Given the description of an element on the screen output the (x, y) to click on. 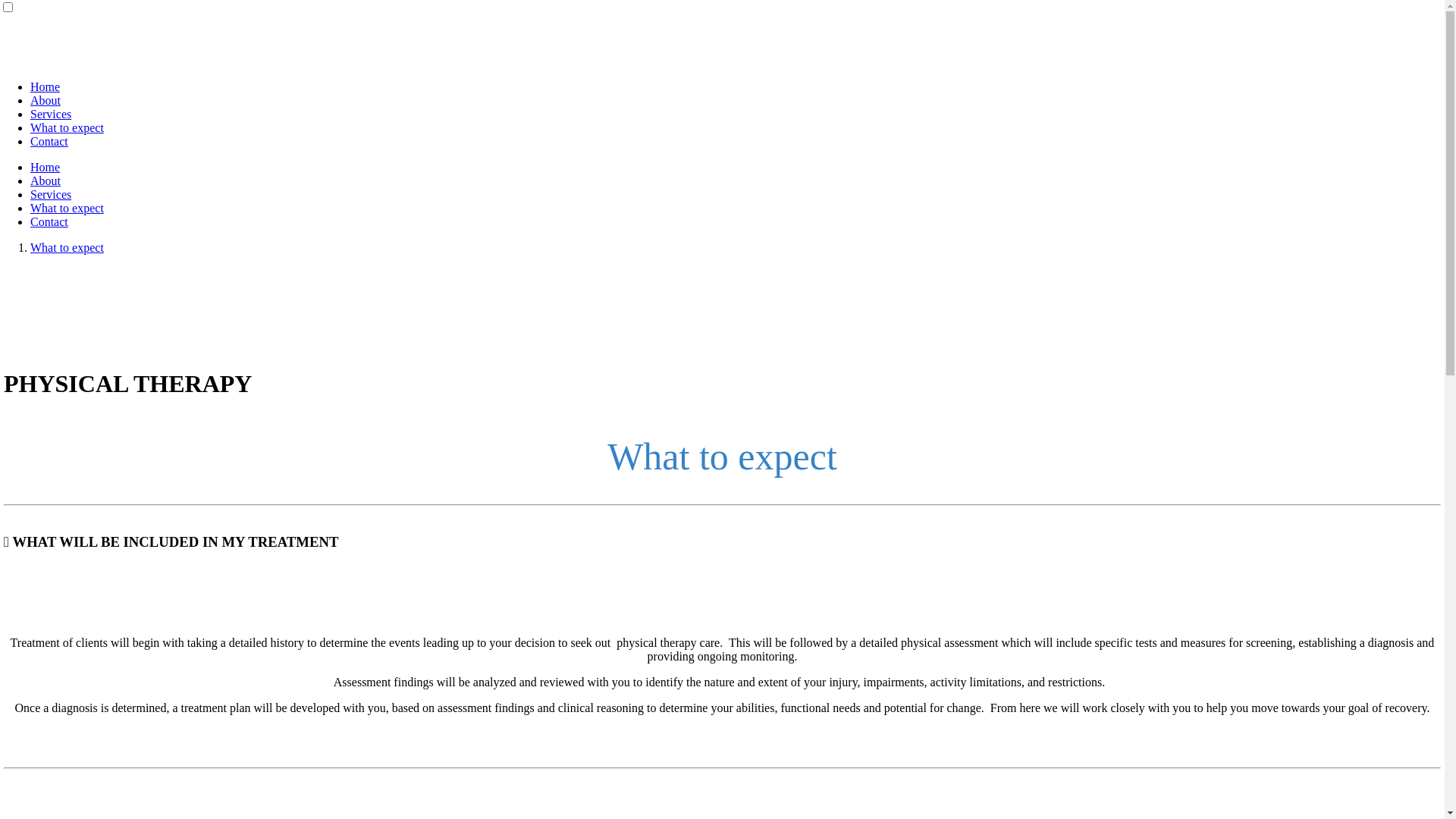
About Element type: text (45, 100)
Home Element type: text (44, 166)
About Element type: text (45, 180)
What to expect Element type: text (66, 247)
Services Element type: text (50, 113)
What to expect Element type: text (66, 207)
Services Element type: text (50, 194)
What to expect Element type: text (66, 127)
Contact Element type: text (49, 140)
Contact Element type: text (49, 221)
Home Element type: text (44, 86)
